Given the description of an element on the screen output the (x, y) to click on. 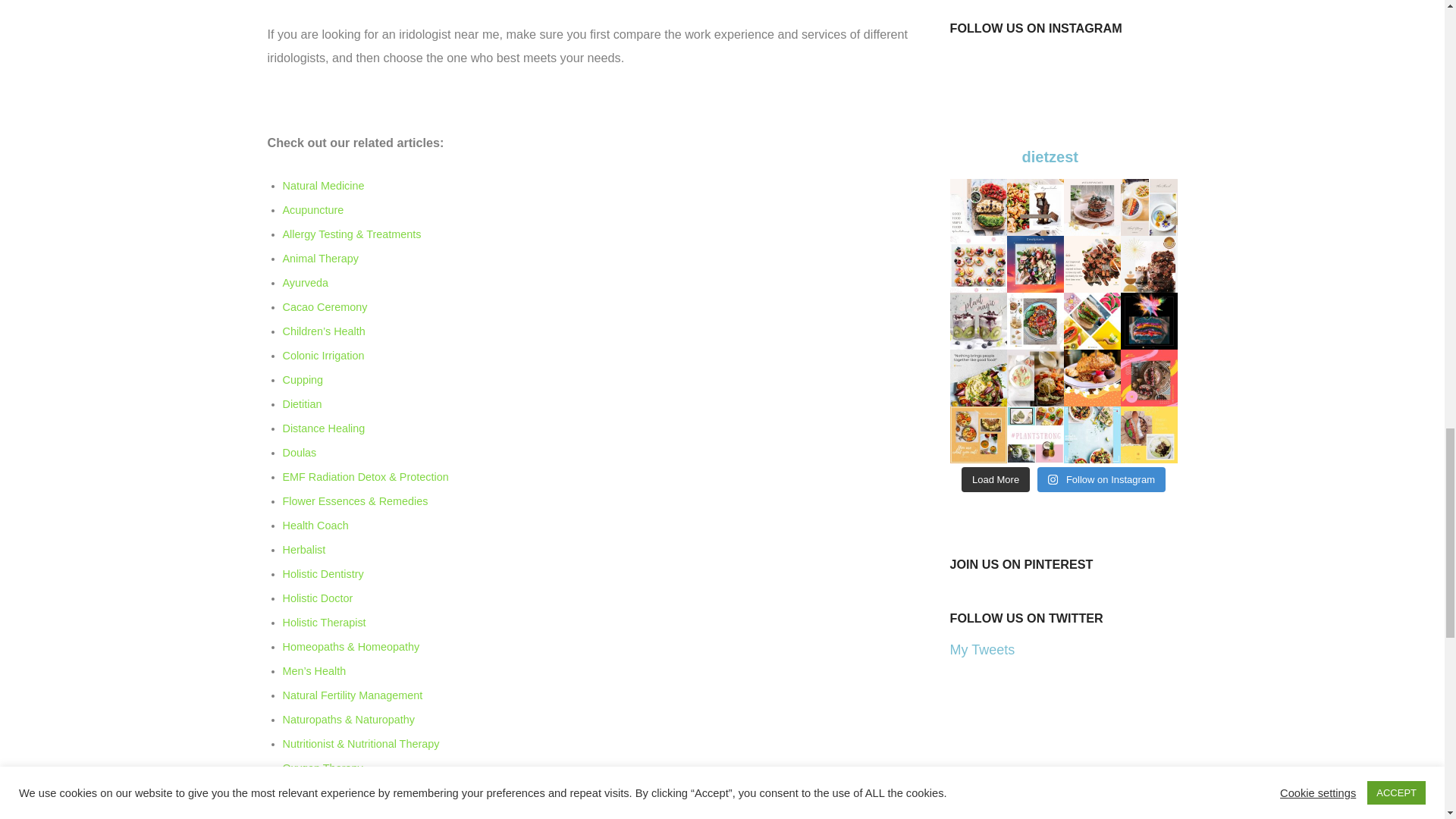
Animal Therapy (320, 258)
Dietitian (301, 404)
Acupuncture (312, 209)
Cacao Ceremony (324, 306)
Natural Medicine (323, 185)
Distance Healing (323, 428)
Ayurveda (305, 282)
Colonic Irrigation (323, 355)
Cupping (302, 379)
Doulas (298, 452)
